Given the description of an element on the screen output the (x, y) to click on. 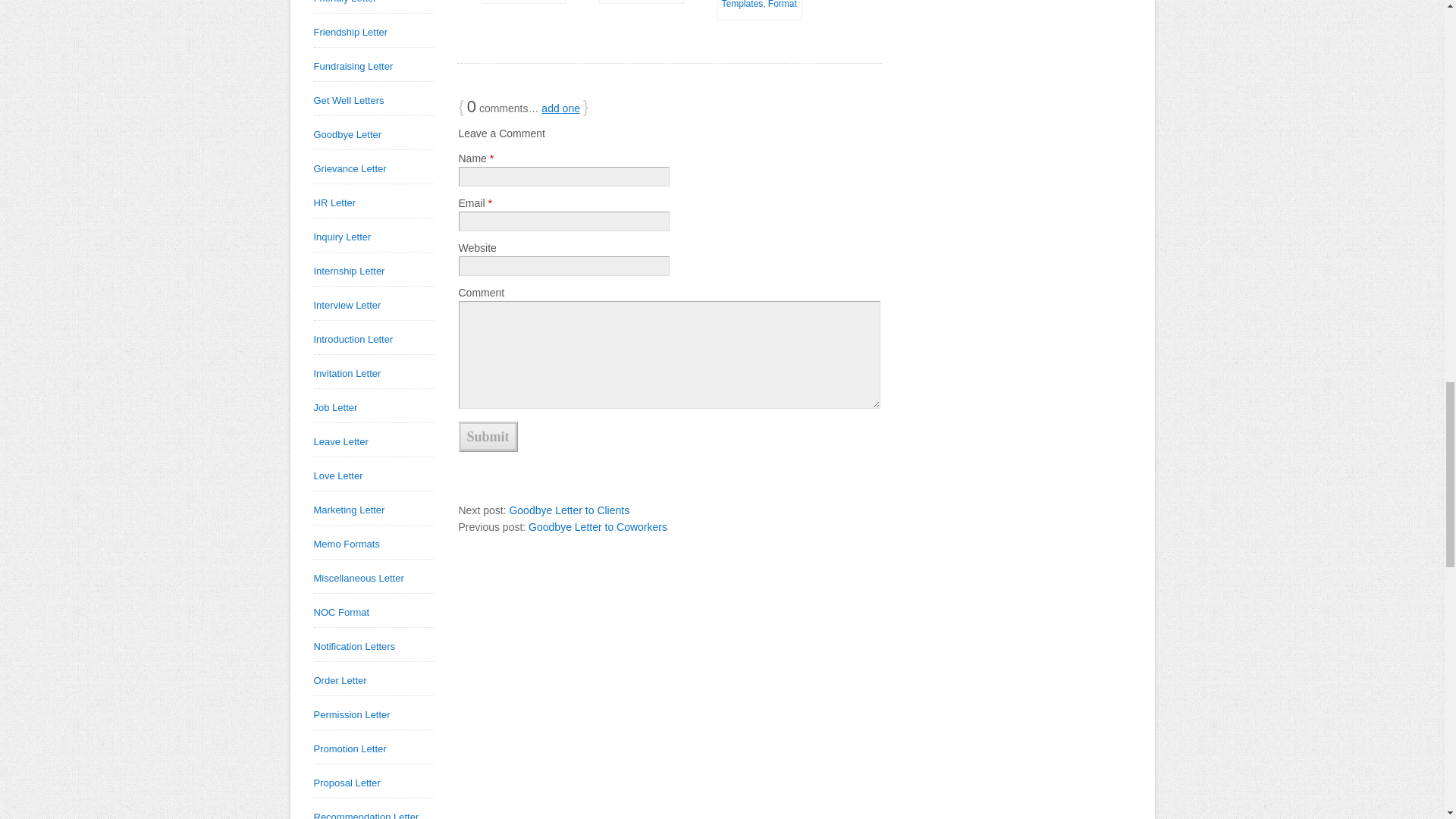
Sample Employment Certificate Templates,  Format (756, 6)
Submit (487, 436)
Submit (487, 436)
Goodbye Letter to Clients (568, 510)
Goodbye Letter to Coworkers (597, 526)
add one (560, 108)
Sample Employment Certificate Templates, Format (756, 6)
